Given the description of an element on the screen output the (x, y) to click on. 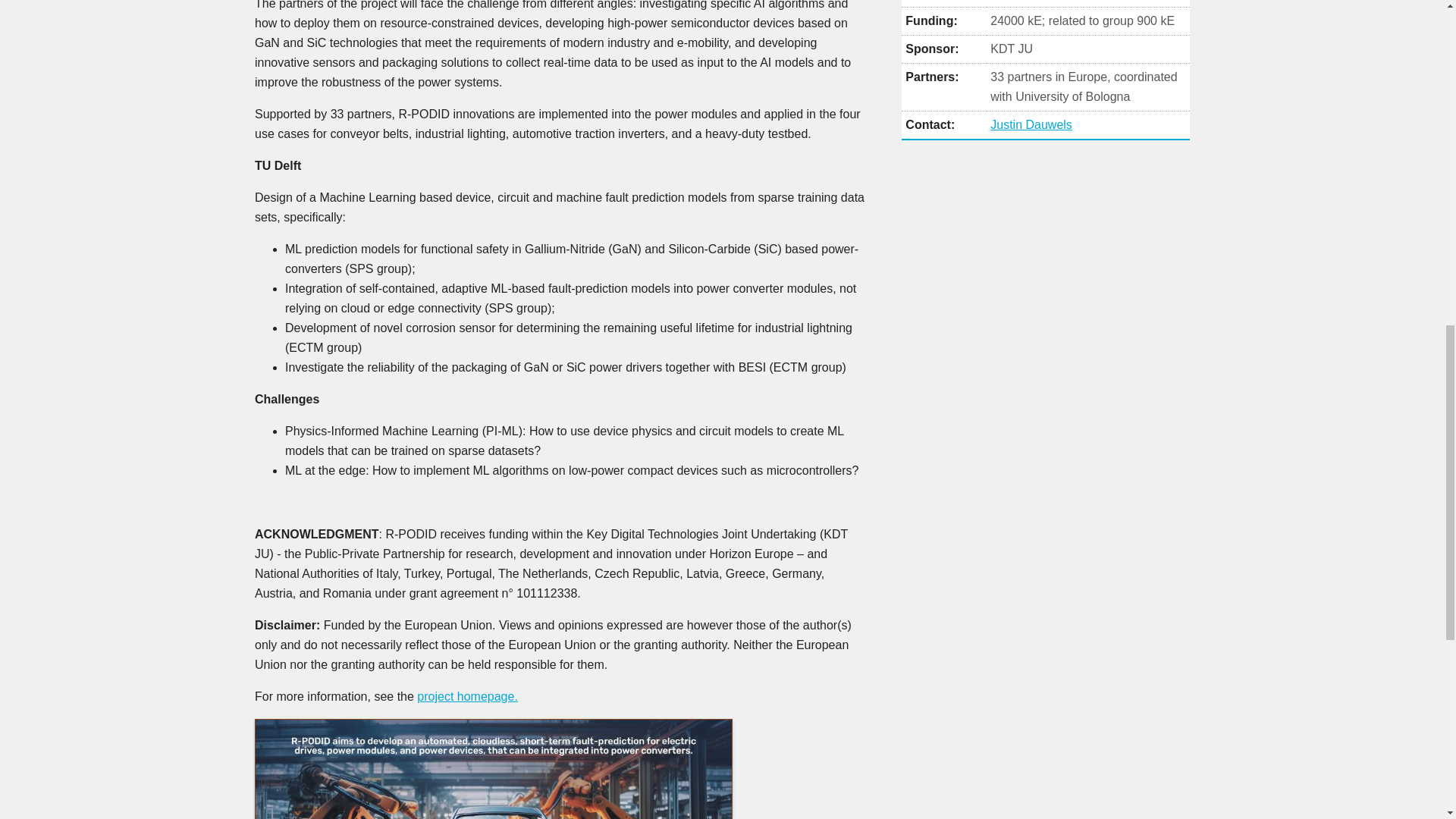
Justin Dauwels (1030, 124)
project homepage. (467, 696)
